Given the description of an element on the screen output the (x, y) to click on. 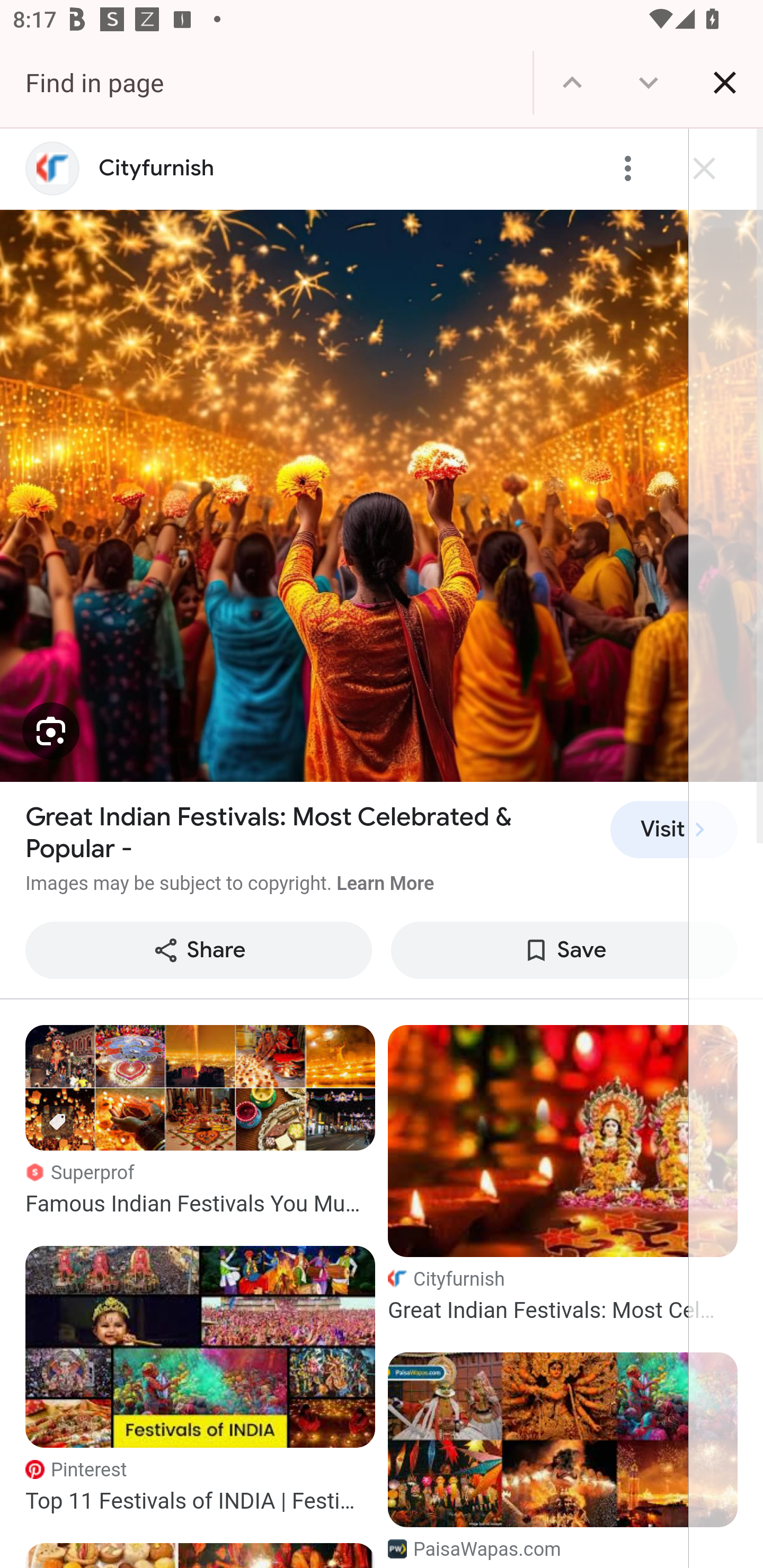
Find in page (266, 82)
Previous (572, 82)
Next (648, 82)
Close (724, 82)
